Given the description of an element on the screen output the (x, y) to click on. 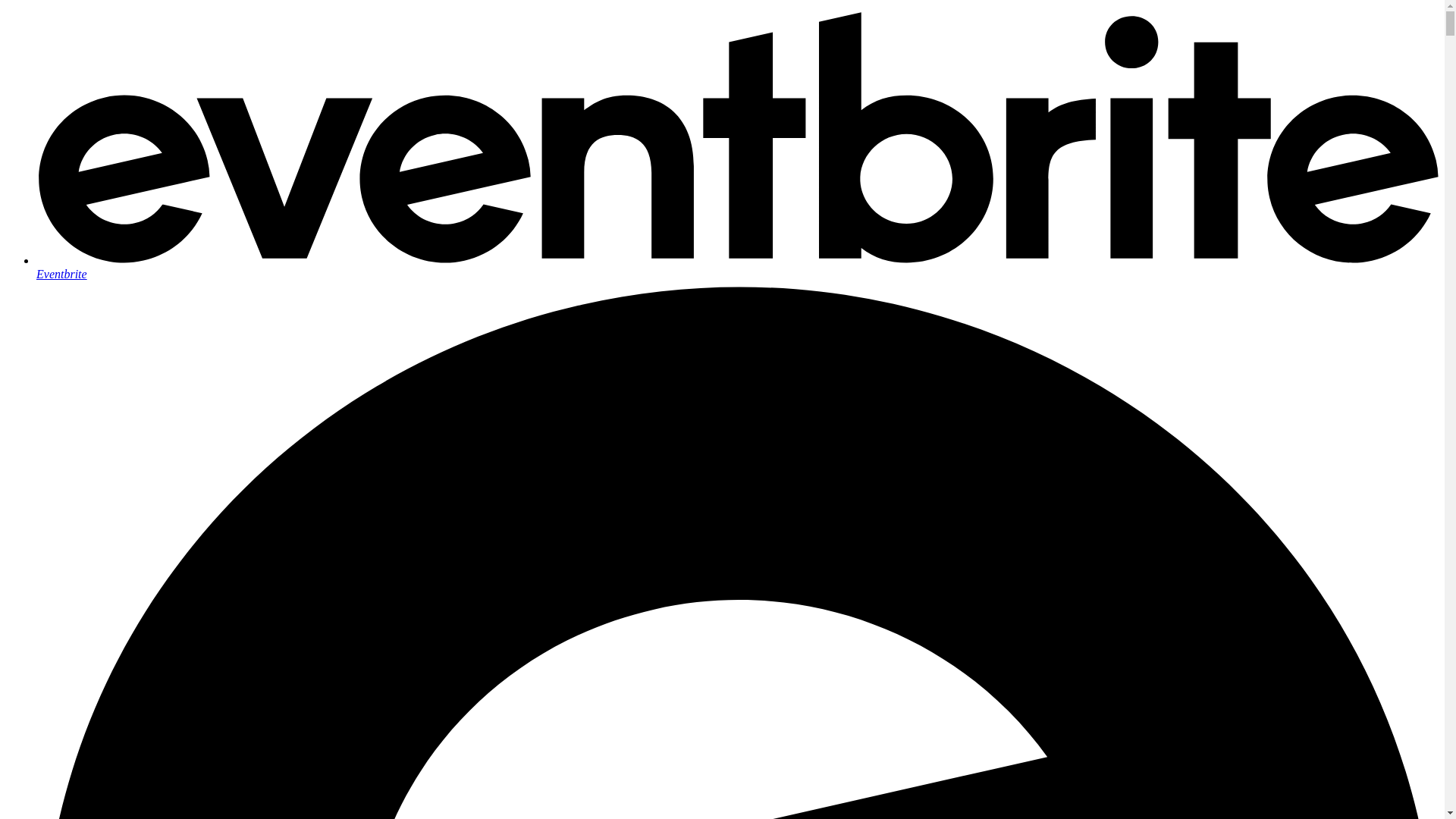
Eventbrite Element type: text (737, 267)
